Given the description of an element on the screen output the (x, y) to click on. 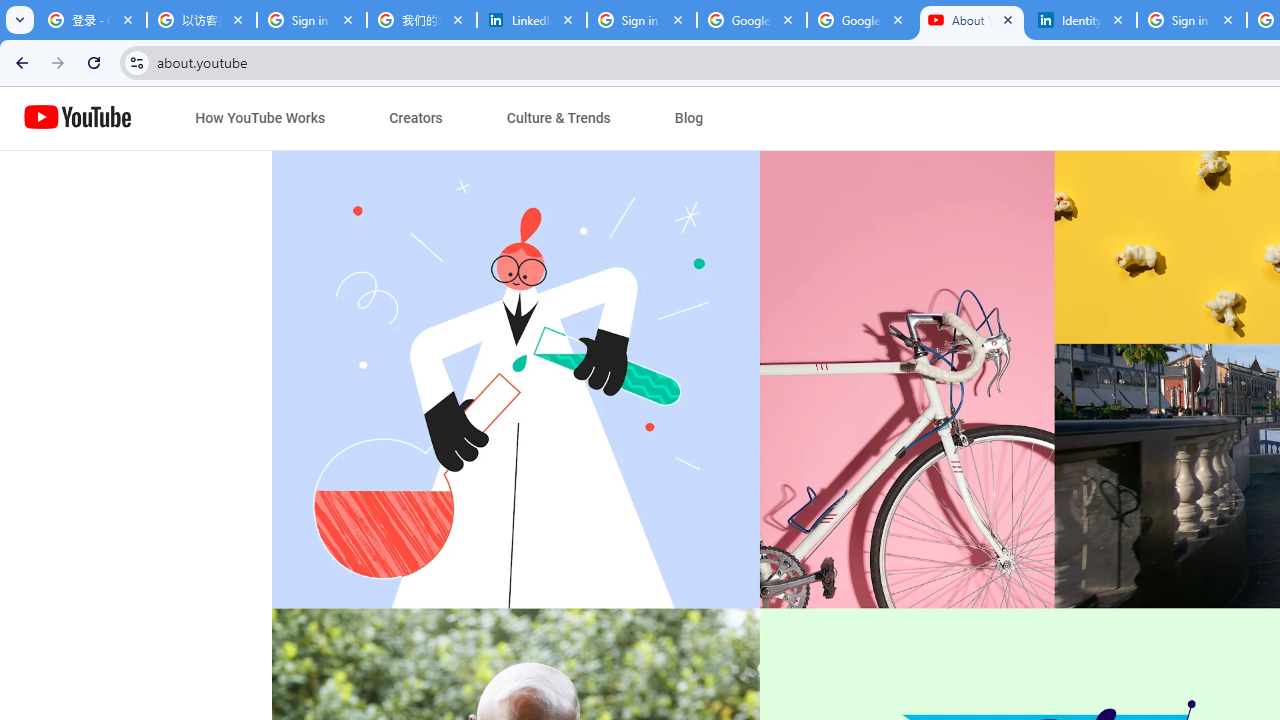
About YouTube - YouTube (971, 20)
Sign in - Google Accounts (1191, 20)
Creators (415, 118)
Culture & Trends (557, 118)
LinkedIn Privacy Policy (532, 20)
